Given the description of an element on the screen output the (x, y) to click on. 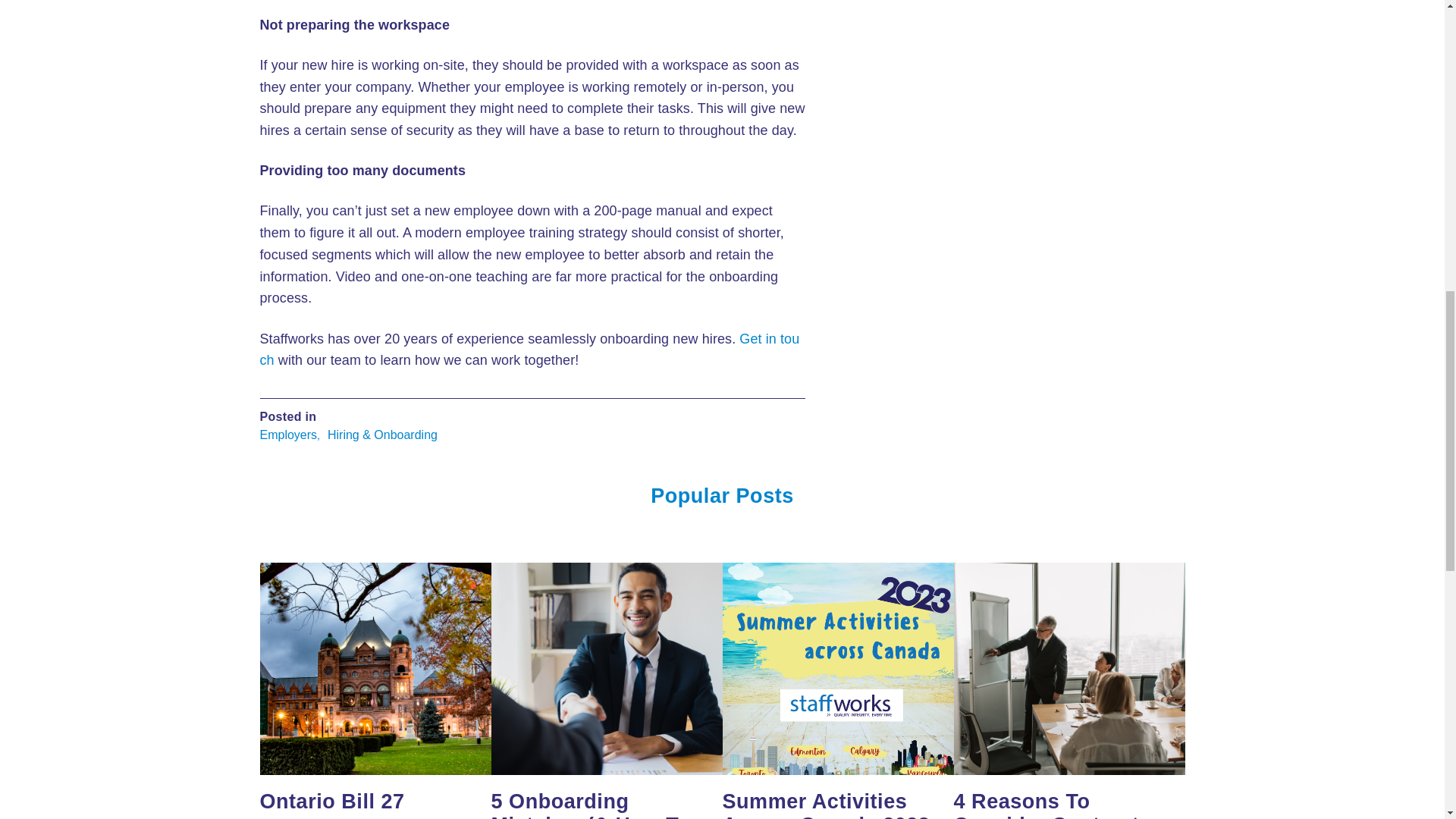
Employers (288, 434)
Get in touch (529, 349)
